Given the description of an element on the screen output the (x, y) to click on. 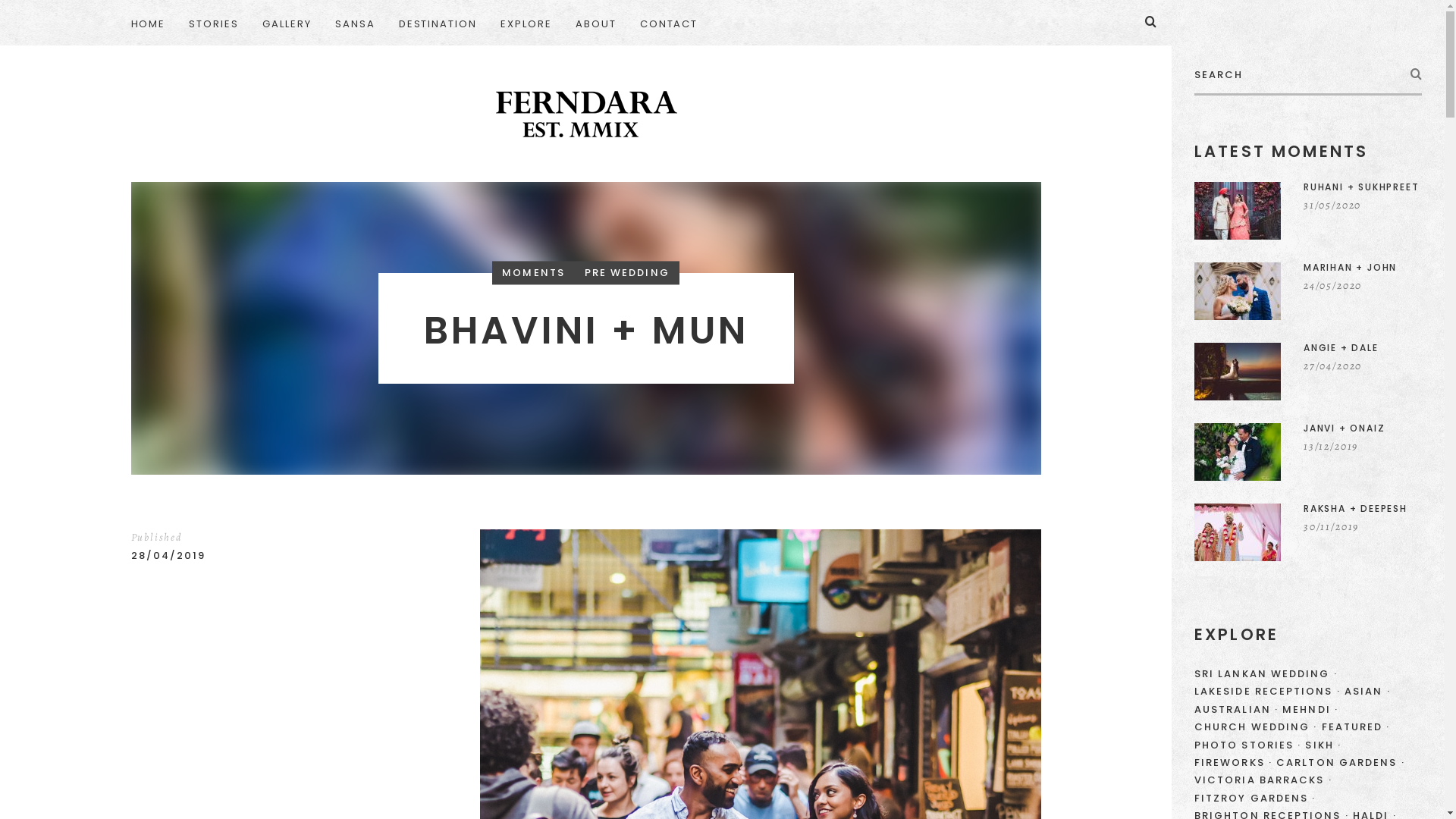
FIREWORKS Element type: text (1233, 762)
FITZROY GARDENS Element type: text (1254, 797)
HOME Element type: text (153, 22)
FEATURED Element type: text (1355, 726)
STORIES Element type: text (213, 22)
ASIAN Element type: text (1367, 690)
ANGIE + DALE
27/04/2020 Element type: text (1307, 371)
SANSA Element type: text (354, 22)
SRI LANKAN WEDDING Element type: text (1265, 673)
DESTINATION Element type: text (437, 22)
RAKSHA + DEEPESH
30/11/2019 Element type: text (1307, 532)
CHURCH WEDDING Element type: text (1255, 726)
MARIHAN + JOHN
24/05/2020 Element type: text (1307, 291)
PRE WEDDING Element type: text (626, 272)
VICTORIA BARRACKS Element type: text (1263, 779)
CONTACT Element type: text (668, 22)
ABOUT Element type: text (595, 22)
MOMENTS Element type: text (533, 272)
JANVI + ONAIZ
13/12/2019 Element type: text (1307, 451)
MEHNDI Element type: text (1310, 709)
GALLERY Element type: text (287, 22)
LAKESIDE RECEPTIONS Element type: text (1267, 690)
AUSTRALIAN Element type: text (1236, 709)
CARLTON GARDENS Element type: text (1340, 762)
PHOTO STORIES Element type: text (1247, 744)
RUHANI + SUKHPREET
31/05/2020 Element type: text (1307, 210)
SIKH Element type: text (1323, 744)
EXPLORE Element type: text (526, 22)
